Given the description of an element on the screen output the (x, y) to click on. 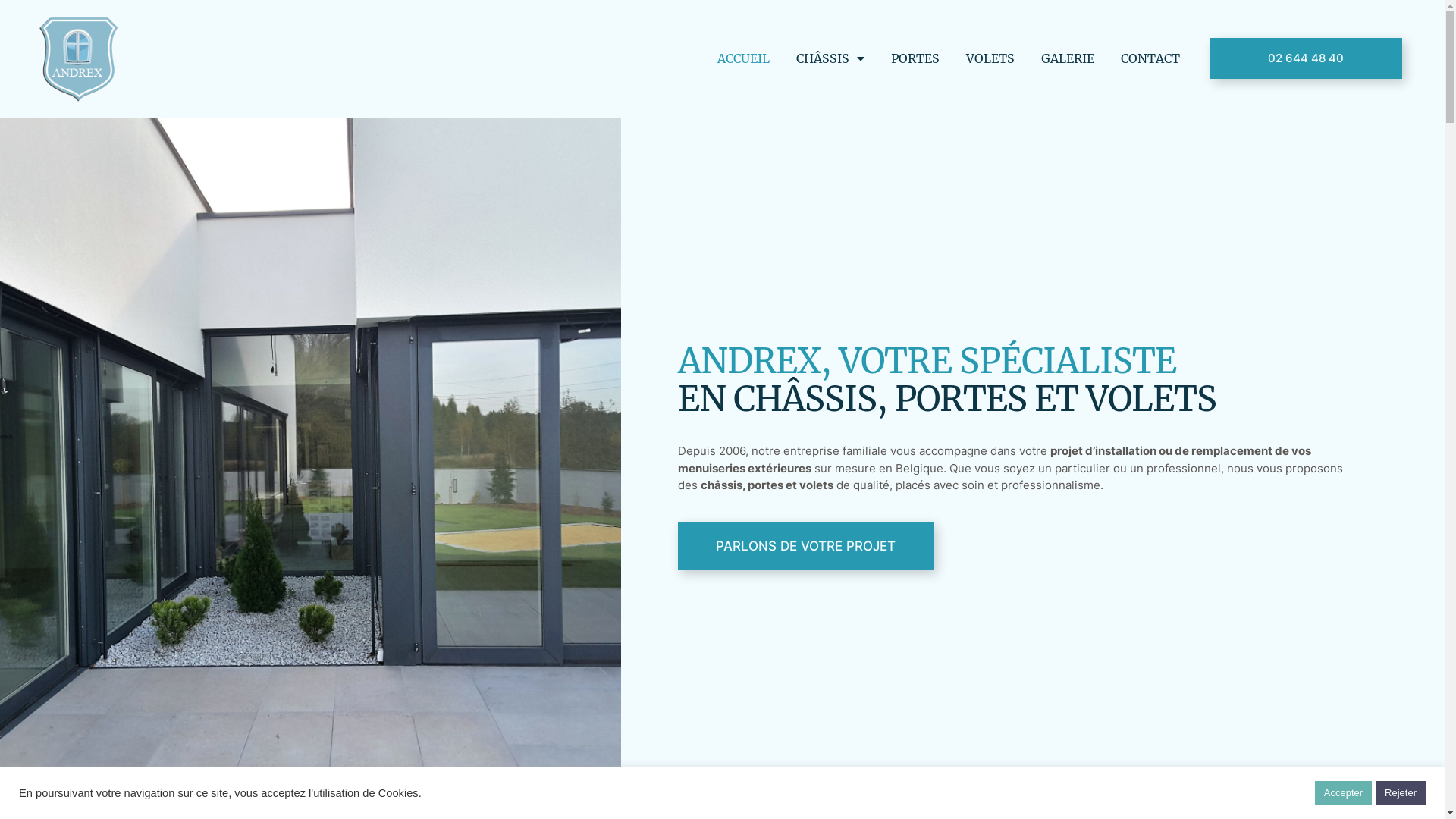
Rejeter Element type: text (1400, 792)
CONTACT Element type: text (1149, 57)
Accepter Element type: text (1342, 792)
VOLETS Element type: text (990, 57)
PORTES Element type: text (915, 57)
PARLONS DE VOTRE PROJET Element type: text (805, 545)
02 644 48 40 Element type: text (1306, 57)
GALERIE Element type: text (1067, 57)
ACCUEIL Element type: text (743, 57)
